Given the description of an element on the screen output the (x, y) to click on. 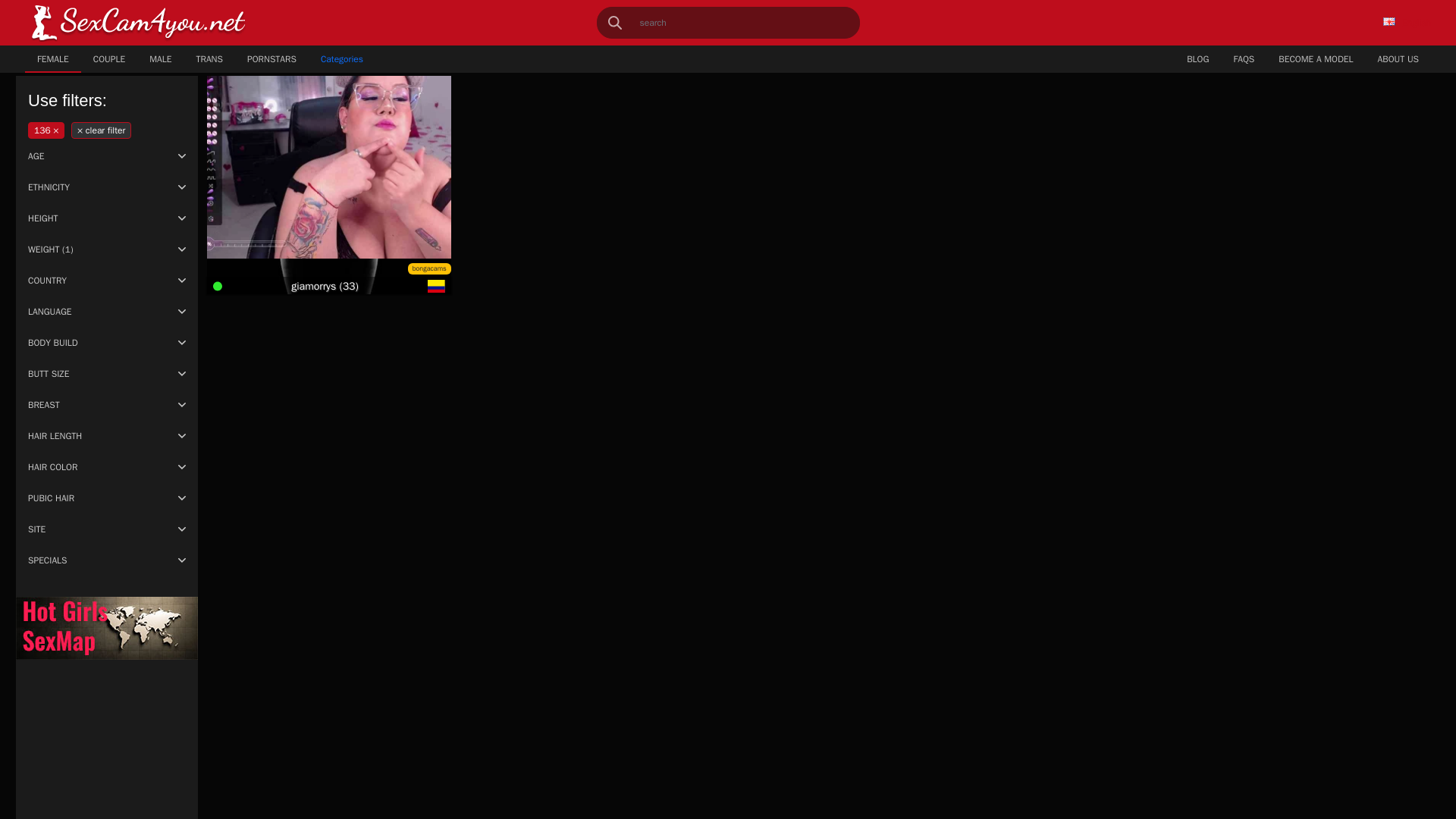
English (1388, 21)
SexCam4you.net (137, 22)
English (1407, 22)
